Given the description of an element on the screen output the (x, y) to click on. 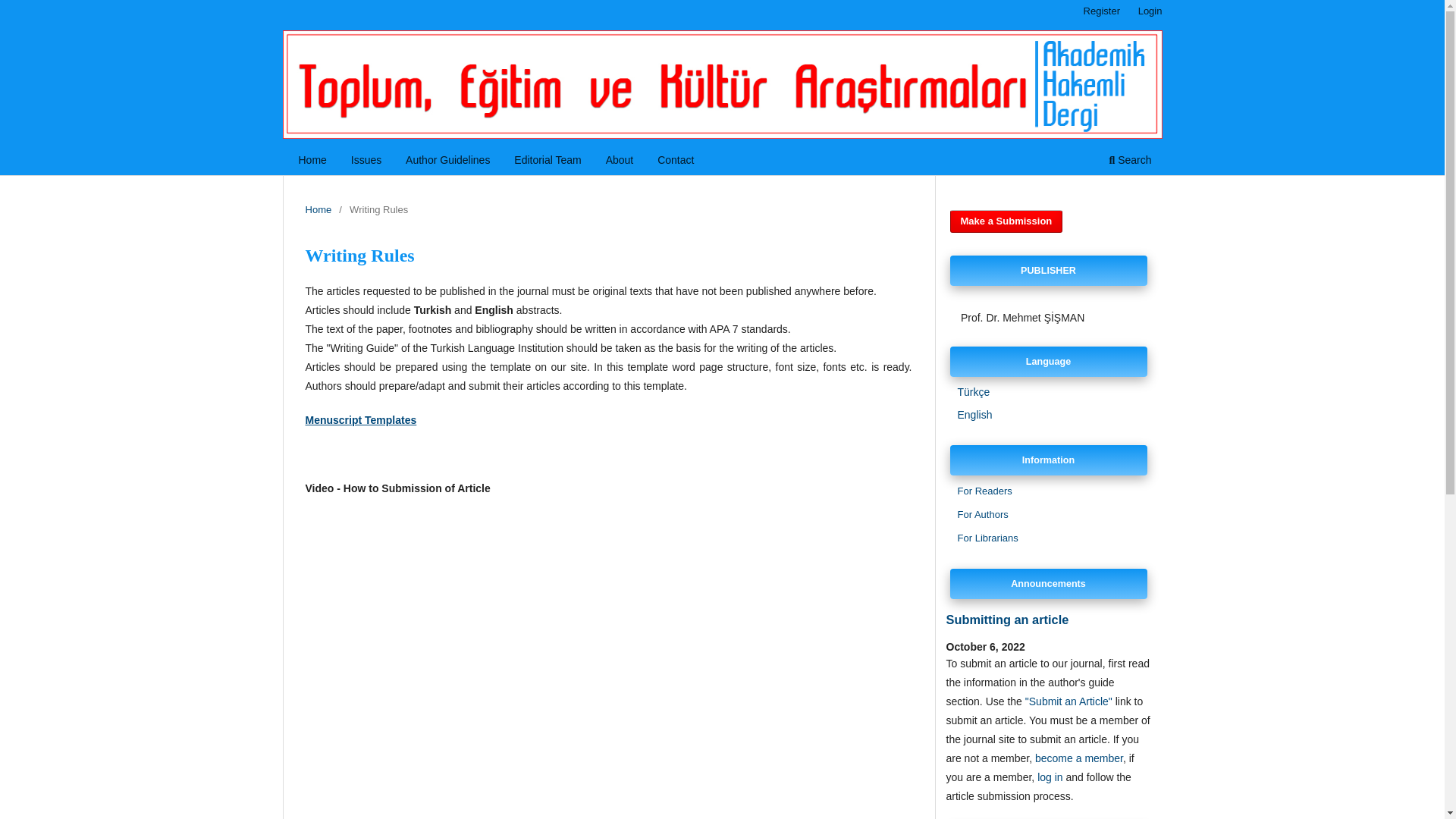
YouTube video player (516, 632)
Author Guidelines (447, 161)
For Authors (981, 514)
Contact (675, 161)
Home (317, 209)
Menuscript Templates (360, 419)
Register (1100, 11)
English (973, 414)
Login (1150, 11)
Make a Submission (1005, 220)
